Given the description of an element on the screen output the (x, y) to click on. 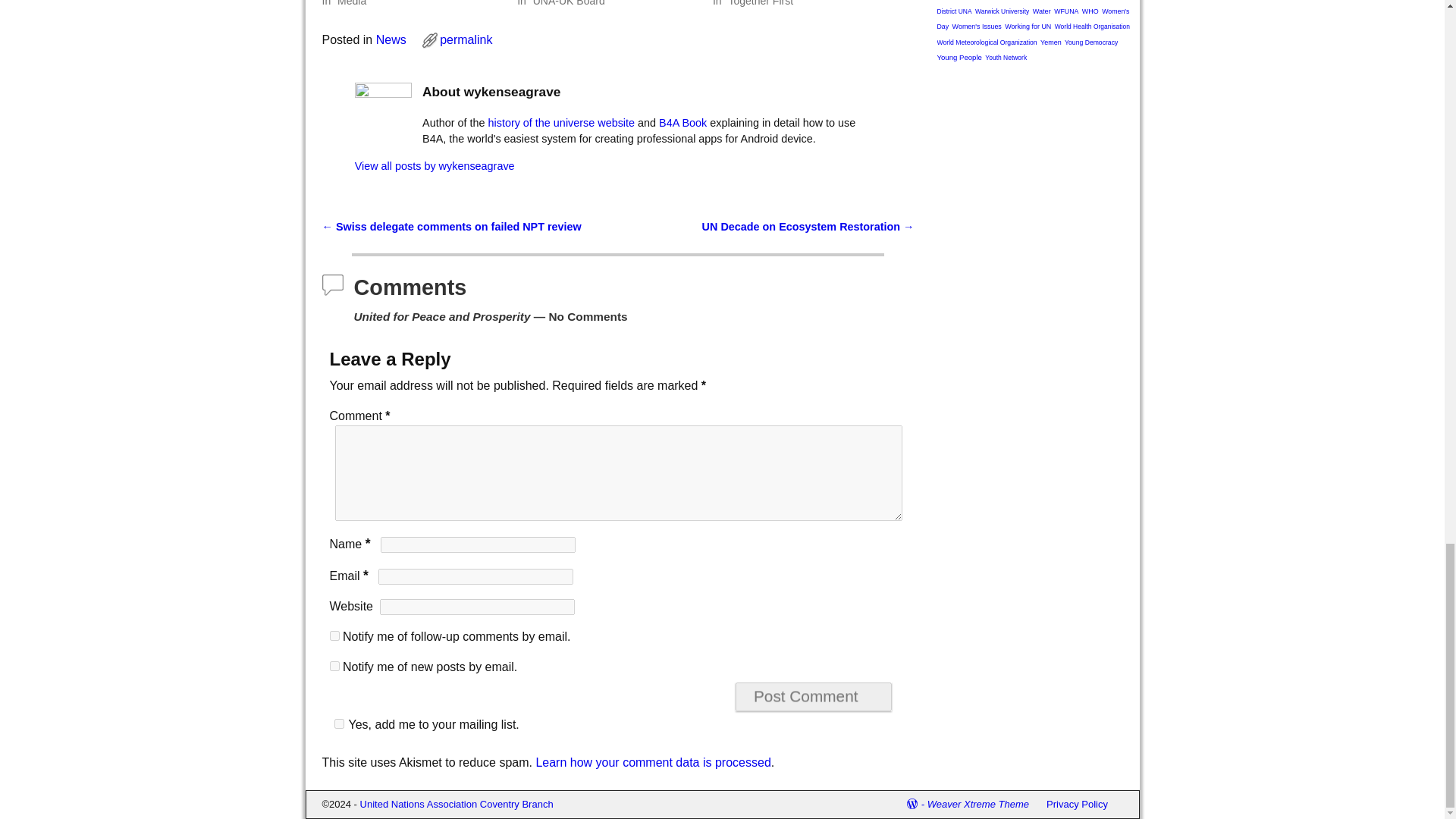
1 (338, 723)
Post Comment (813, 696)
subscribe (334, 665)
Permalink to United for Peace and Prosperity (465, 39)
subscribe (334, 635)
